Given the description of an element on the screen output the (x, y) to click on. 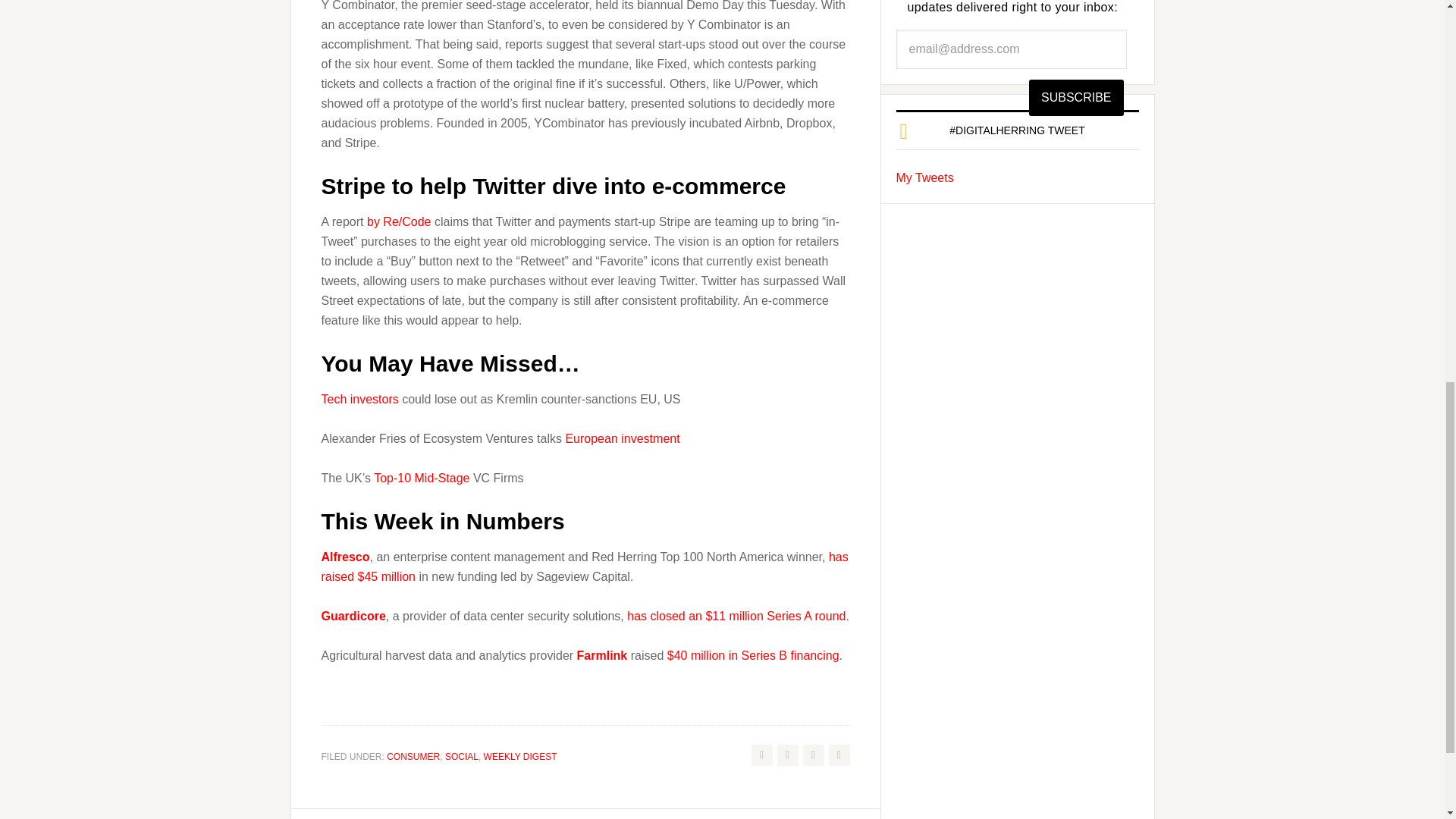
Subscribe (1075, 97)
WEEKLY DIGEST (520, 756)
My Tweets (924, 177)
CONSUMER (413, 756)
Share on Facebook (786, 754)
SOCIAL (462, 756)
Alfresco (345, 556)
Share on Twitter (761, 754)
European investment (621, 438)
Tech investors (359, 399)
Guardicore (353, 615)
Top-10 Mid-Stage (421, 477)
Subscribe (1075, 97)
Share on LinkedIn (838, 754)
Farmlink (603, 655)
